Given the description of an element on the screen output the (x, y) to click on. 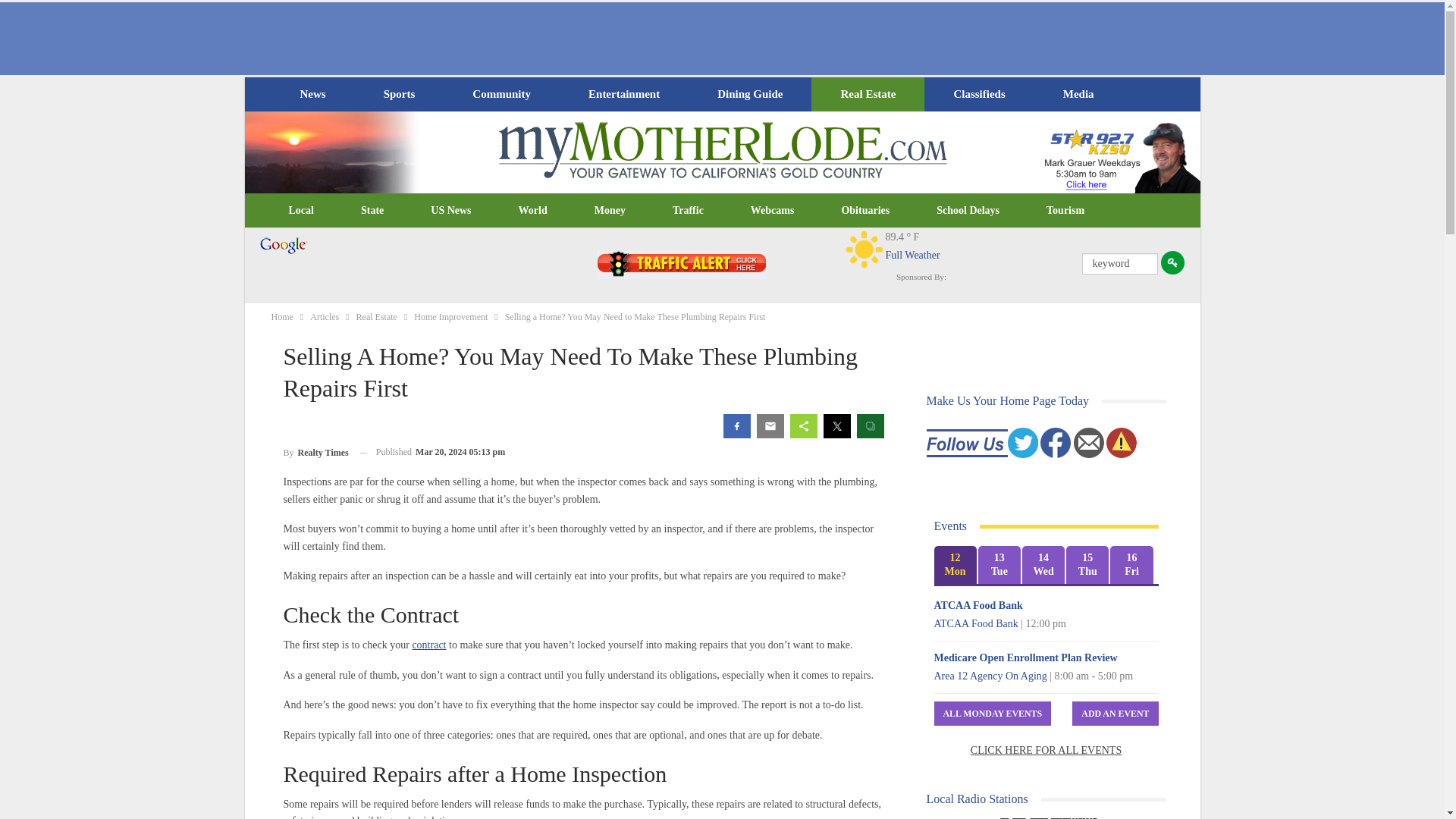
Add An Event (1114, 713)
Real Estate (868, 93)
World (532, 210)
News (312, 93)
Traffic (687, 210)
School Delays (967, 210)
Media (1078, 93)
Entertainment (624, 93)
